Given the description of an element on the screen output the (x, y) to click on. 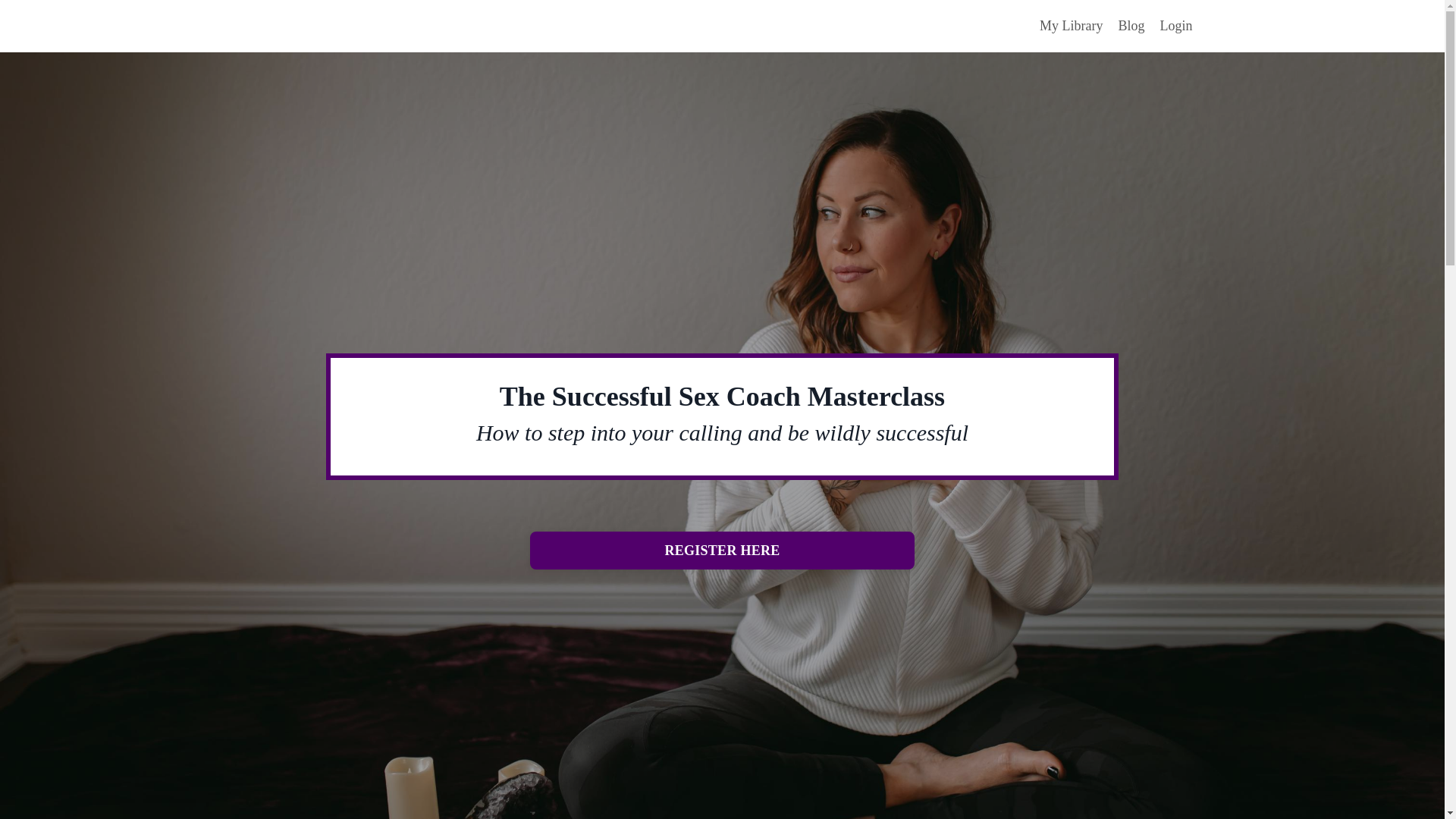
Blog (1131, 25)
My Library (1070, 25)
Login (1176, 25)
REGISTER HERE (722, 550)
